Given the description of an element on the screen output the (x, y) to click on. 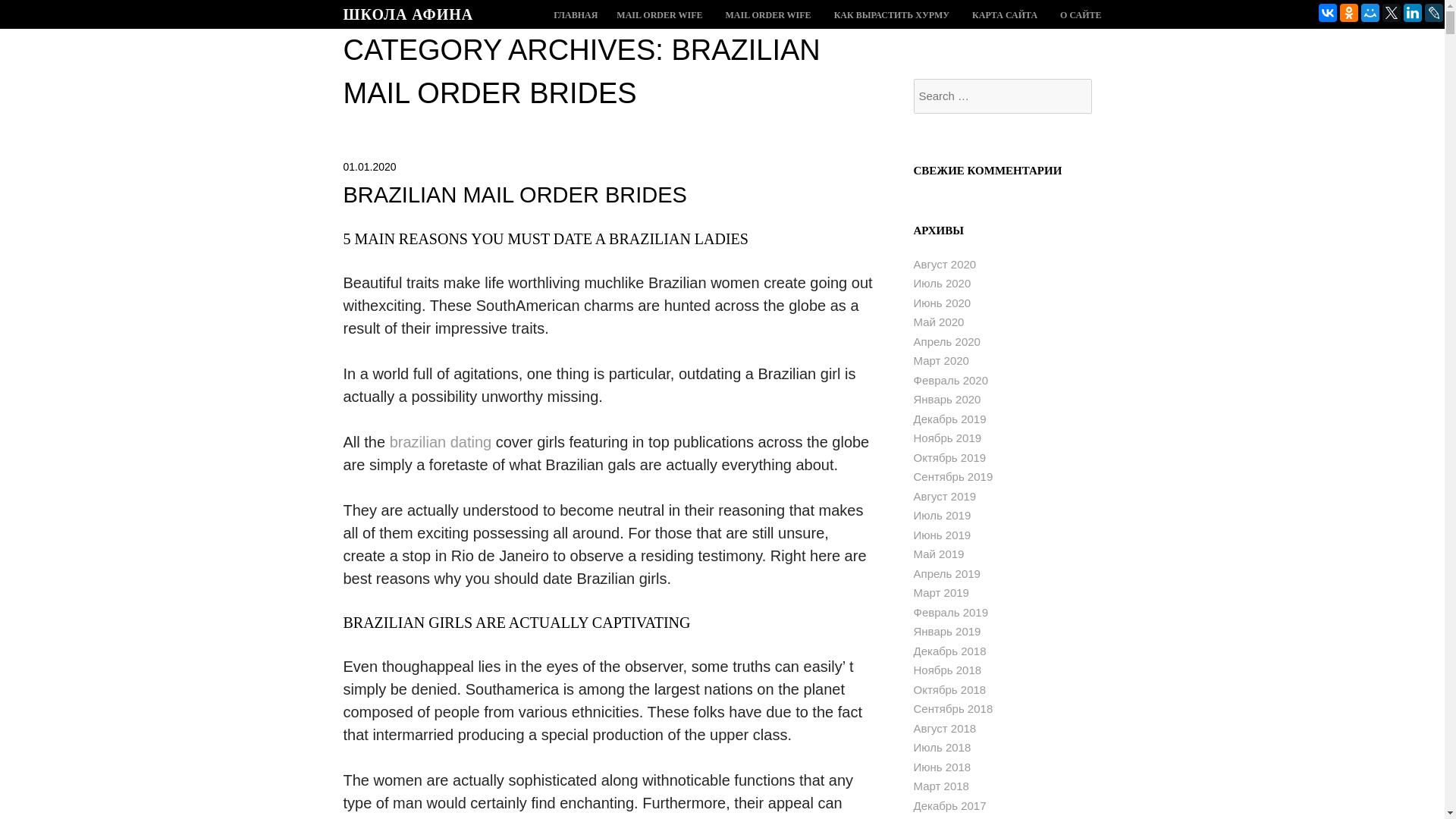
MAIL ORDER WIFE (767, 14)
SKIP TO CONTENT (575, 14)
Search (46, 9)
MAIL ORDER WIFE (658, 14)
BRAZILIAN MAIL ORDER BRIDES (513, 194)
20:05 (369, 166)
brazilian dating (441, 442)
LinkedIn (1412, 13)
LiveJournal (1433, 13)
Skip to content (575, 14)
01.01.2020 (369, 166)
Twitter (1390, 13)
